Given the description of an element on the screen output the (x, y) to click on. 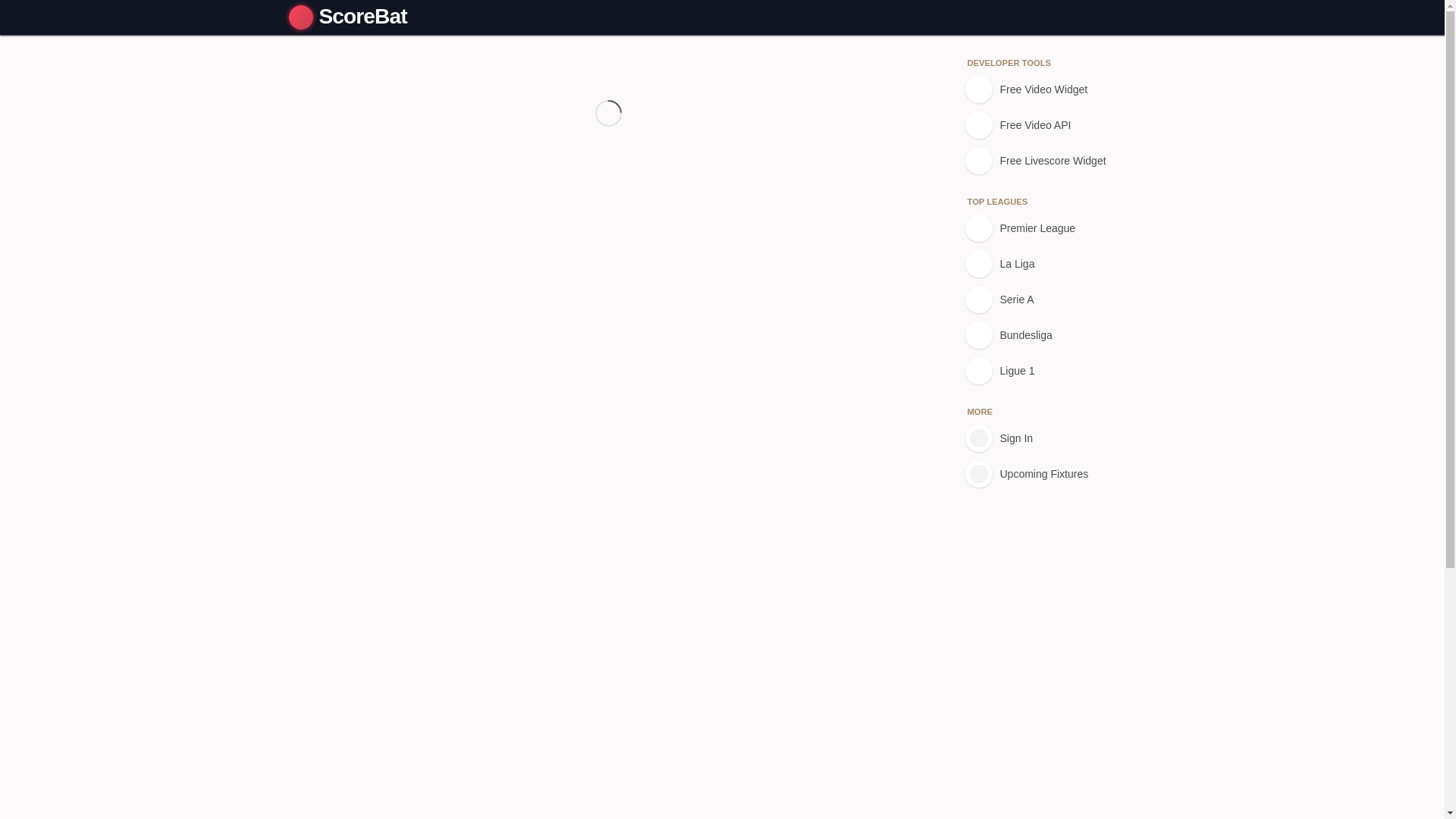
Free Video API (1047, 124)
ScoreBat (351, 17)
Upcoming Fixtures (1047, 473)
Serie A (1047, 299)
Sign In (1047, 438)
Ligue 1 (1047, 370)
La Liga (1047, 263)
Bundesliga (1047, 335)
Premier League (1047, 227)
Free Video Widget (1047, 89)
